Given the description of an element on the screen output the (x, y) to click on. 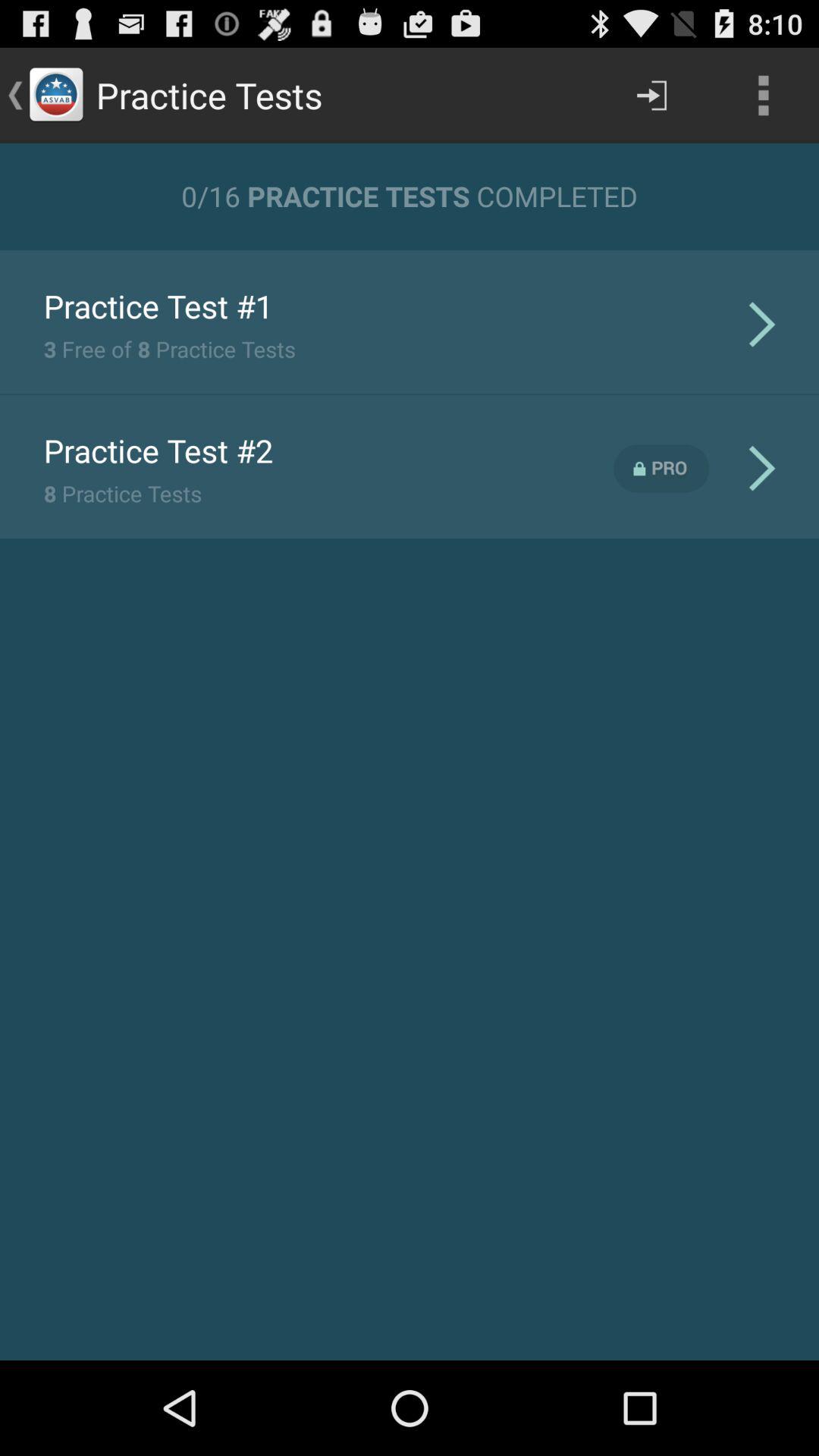
flip to 0 16 practice item (409, 195)
